Given the description of an element on the screen output the (x, y) to click on. 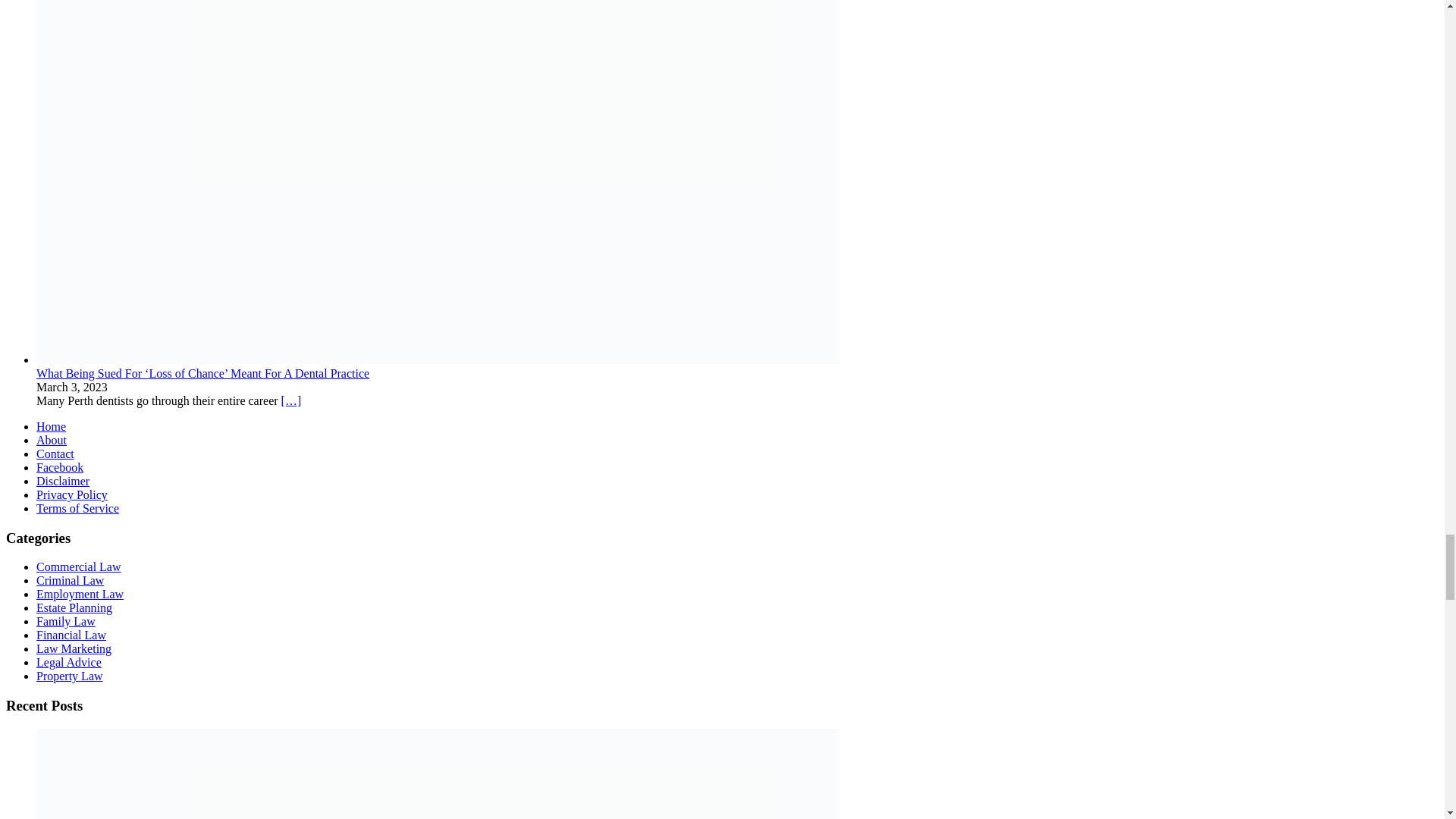
Terms of Service (77, 508)
Contact (55, 453)
Facebook (59, 467)
Home (50, 426)
Privacy Policy (71, 494)
About (51, 440)
Disclaimer (62, 481)
